Given the description of an element on the screen output the (x, y) to click on. 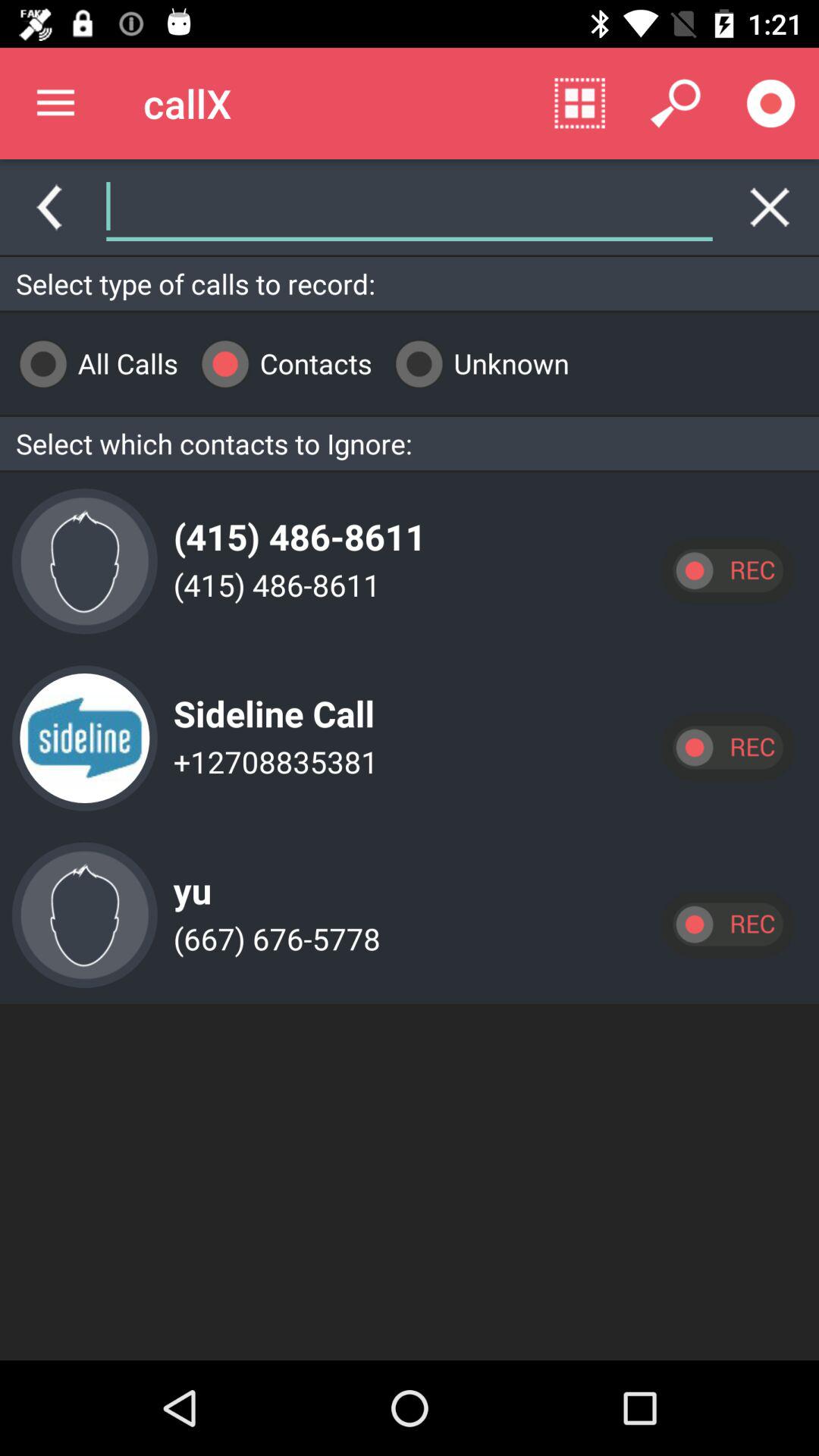
starts recording (771, 103)
